Given the description of an element on the screen output the (x, y) to click on. 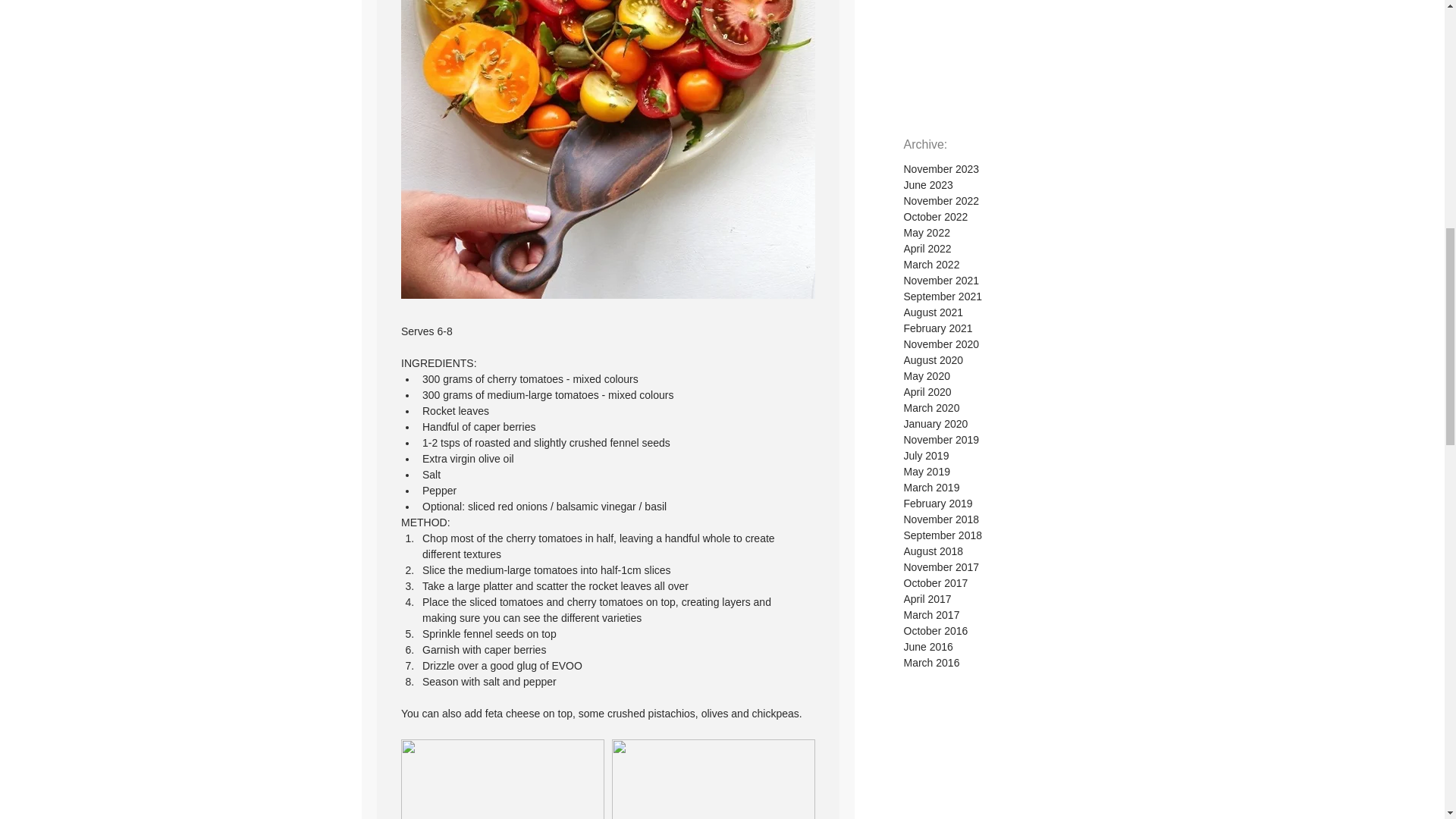
June 2023 (983, 185)
November 2023 (983, 169)
